Given the description of an element on the screen output the (x, y) to click on. 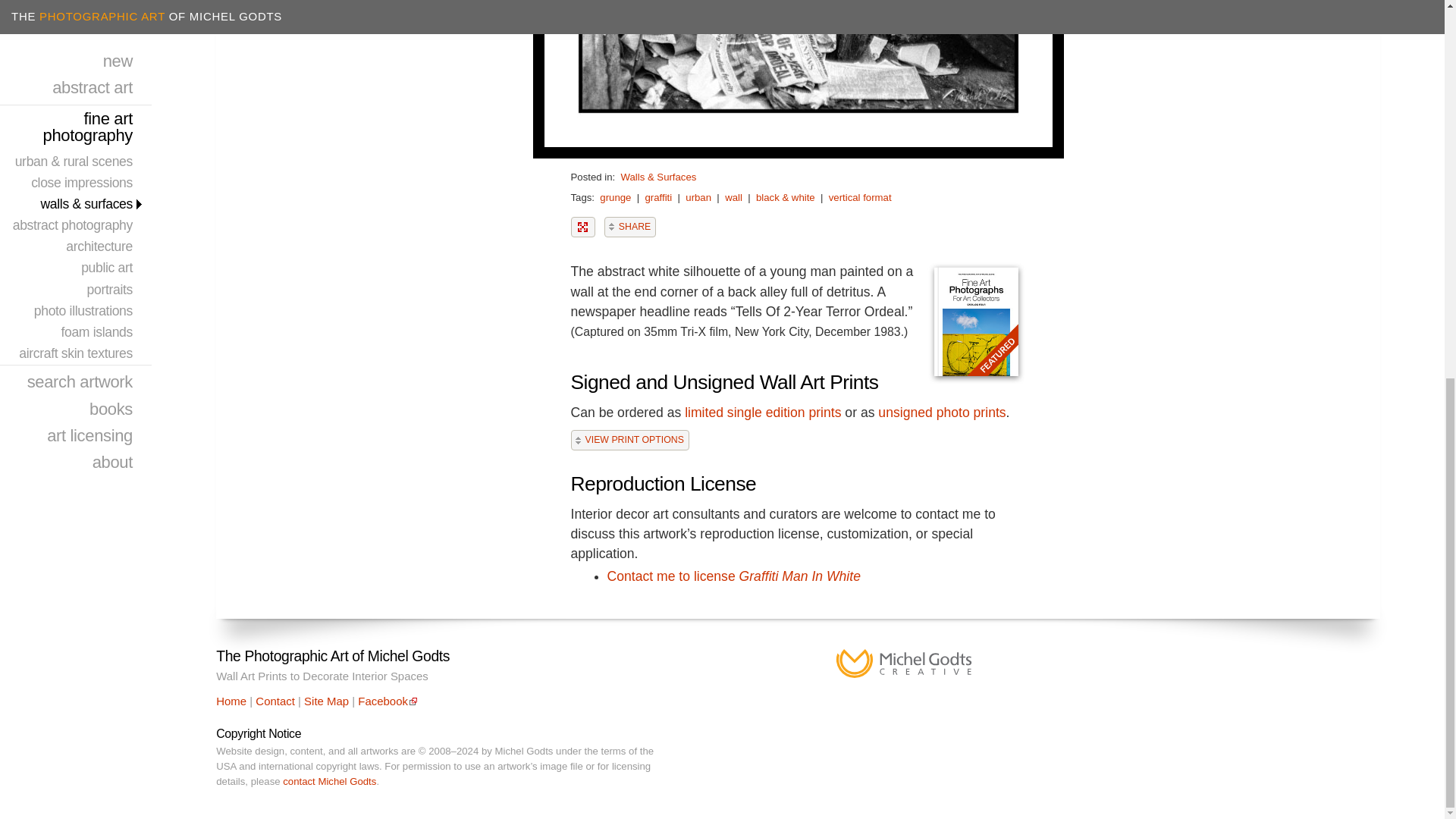
graffiti (658, 197)
wall (733, 197)
SHARE (630, 227)
vertical format (859, 197)
Expand to share this page (630, 227)
Expand to view print options (629, 439)
Enlarge this artwork (582, 227)
urban (698, 197)
grunge (614, 197)
